Given the description of an element on the screen output the (x, y) to click on. 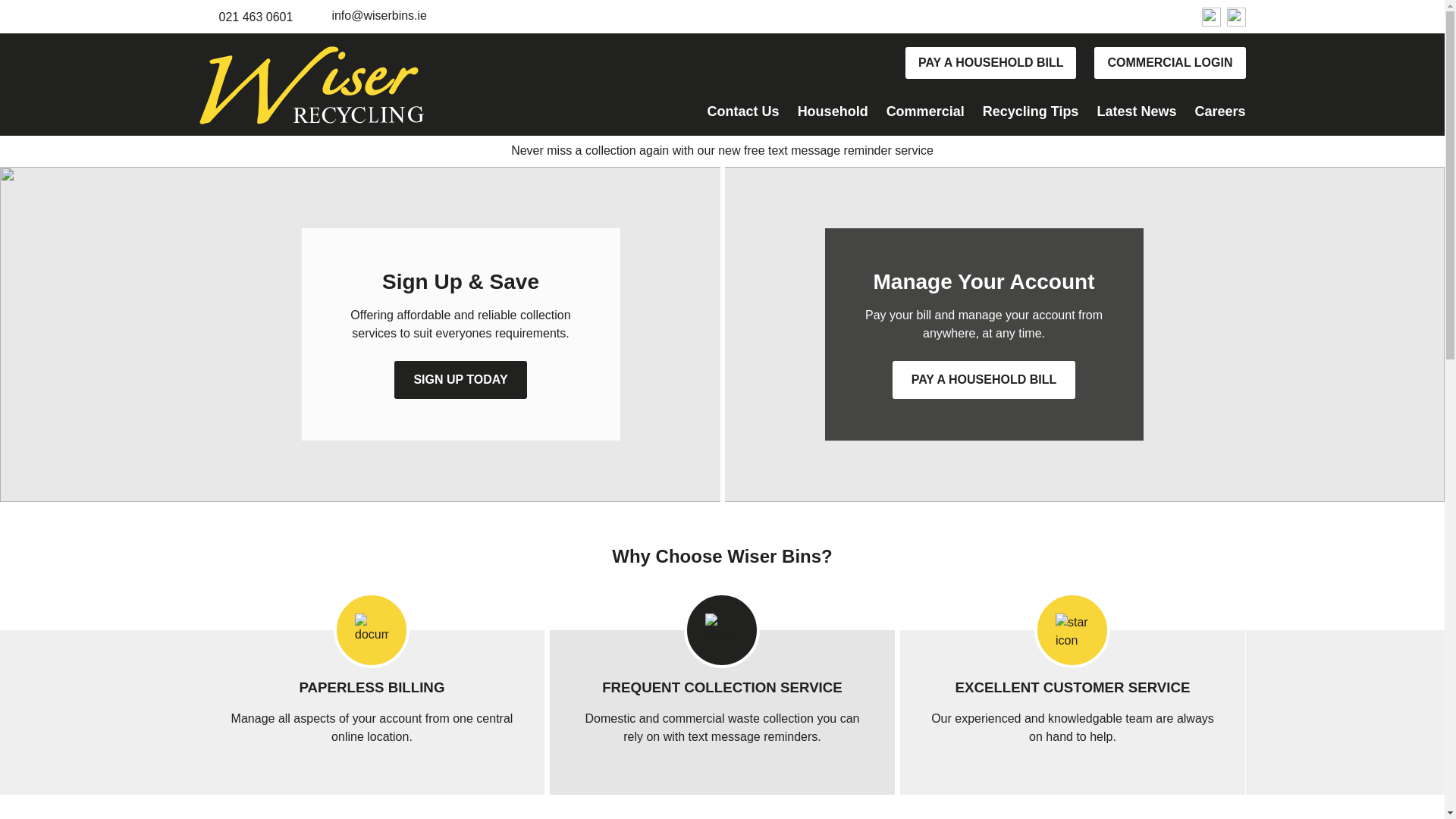
PAY A HOUSEHOLD BILL (990, 62)
Commercial (924, 113)
Contact Us (742, 113)
SIGN UP TODAY (459, 379)
Recycling Tips (1030, 113)
Latest News (1136, 113)
PAY A HOUSEHOLD BILL (983, 379)
Careers (1218, 113)
Household (832, 113)
021 463 0601 (255, 16)
